Given the description of an element on the screen output the (x, y) to click on. 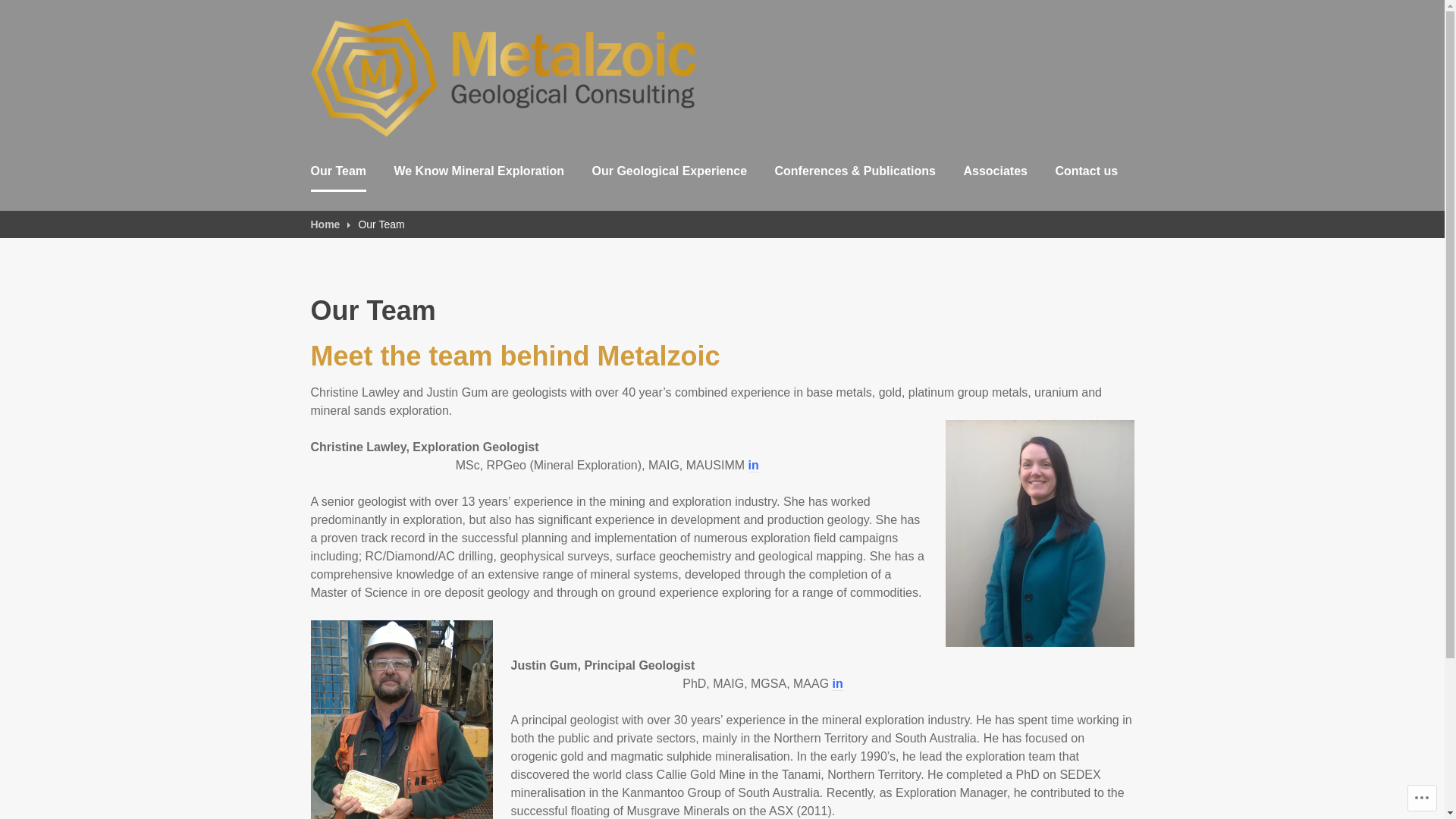
Conferences & Publications Element type: text (855, 172)
We Know Mineral Exploration Element type: text (478, 172)
Home Element type: text (330, 224)
Metalzoic Element type: text (361, 153)
Associates Element type: text (995, 172)
in Element type: text (837, 683)
Our Team Element type: text (338, 172)
Contact us Element type: text (1085, 172)
in Element type: text (753, 465)
Our Geological Experience Element type: text (669, 172)
